Given the description of an element on the screen output the (x, y) to click on. 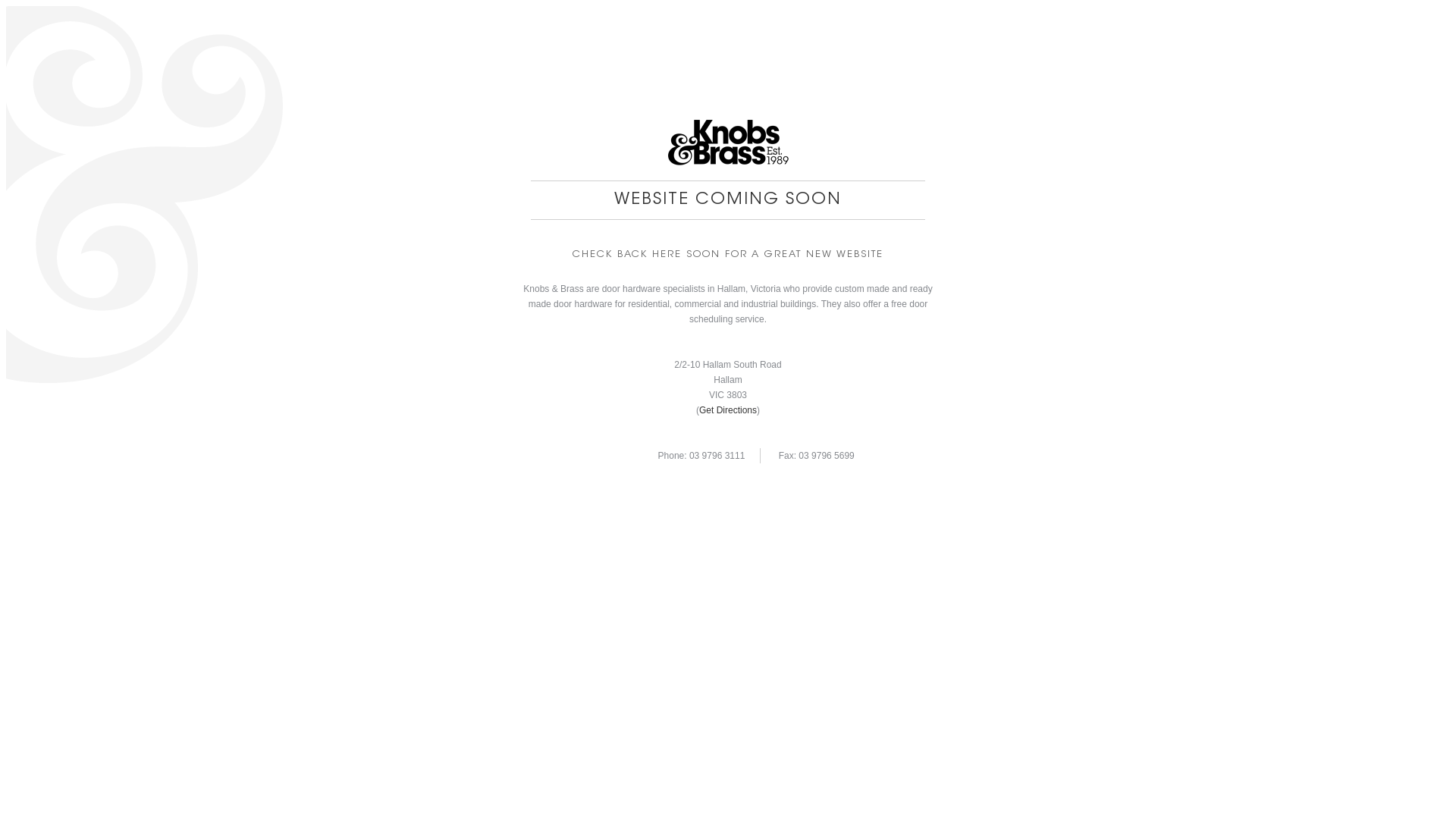
Get Directions Element type: text (727, 409)
